Given the description of an element on the screen output the (x, y) to click on. 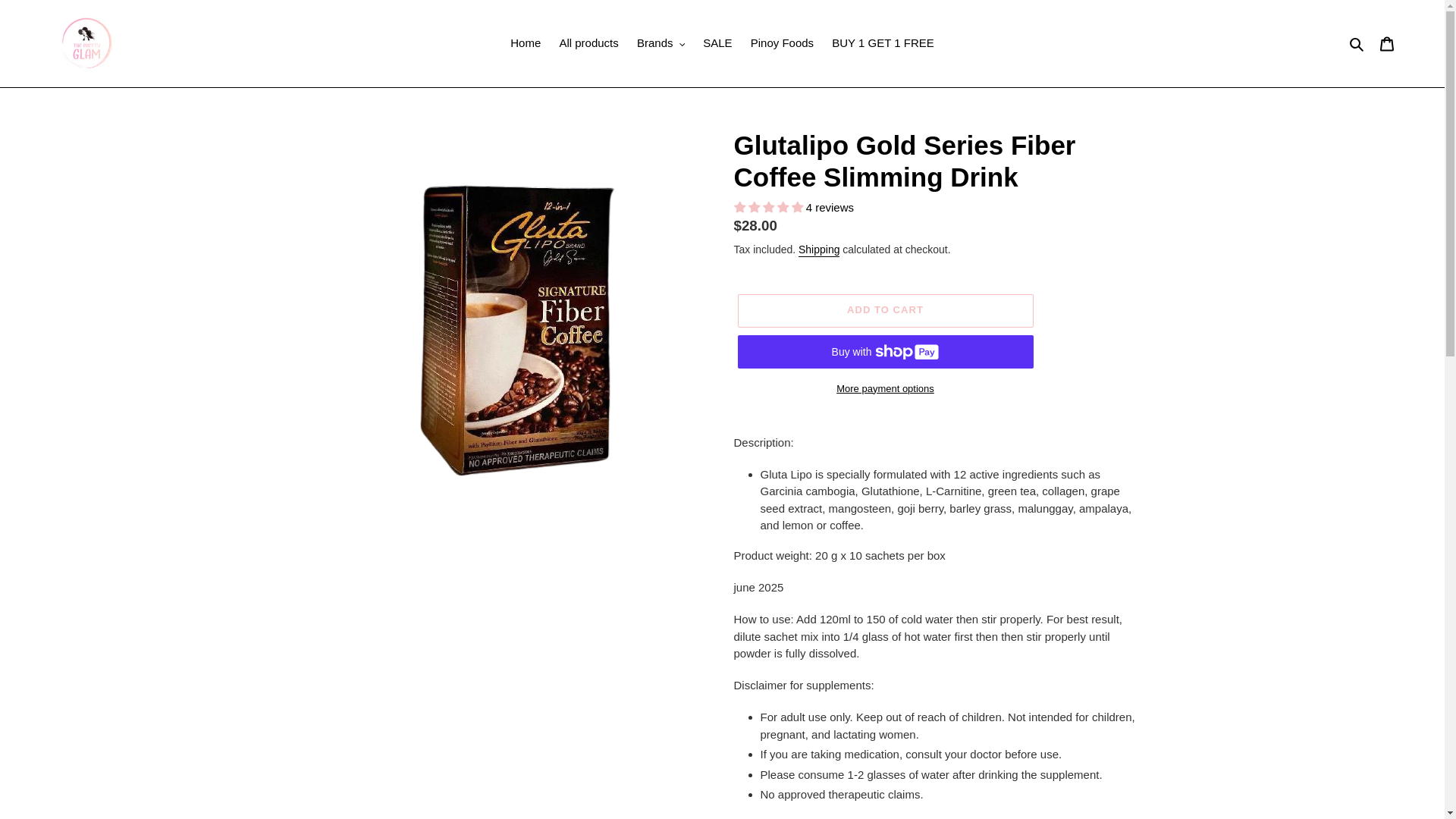
Home (525, 43)
All products (588, 43)
Brands (660, 43)
